Given the description of an element on the screen output the (x, y) to click on. 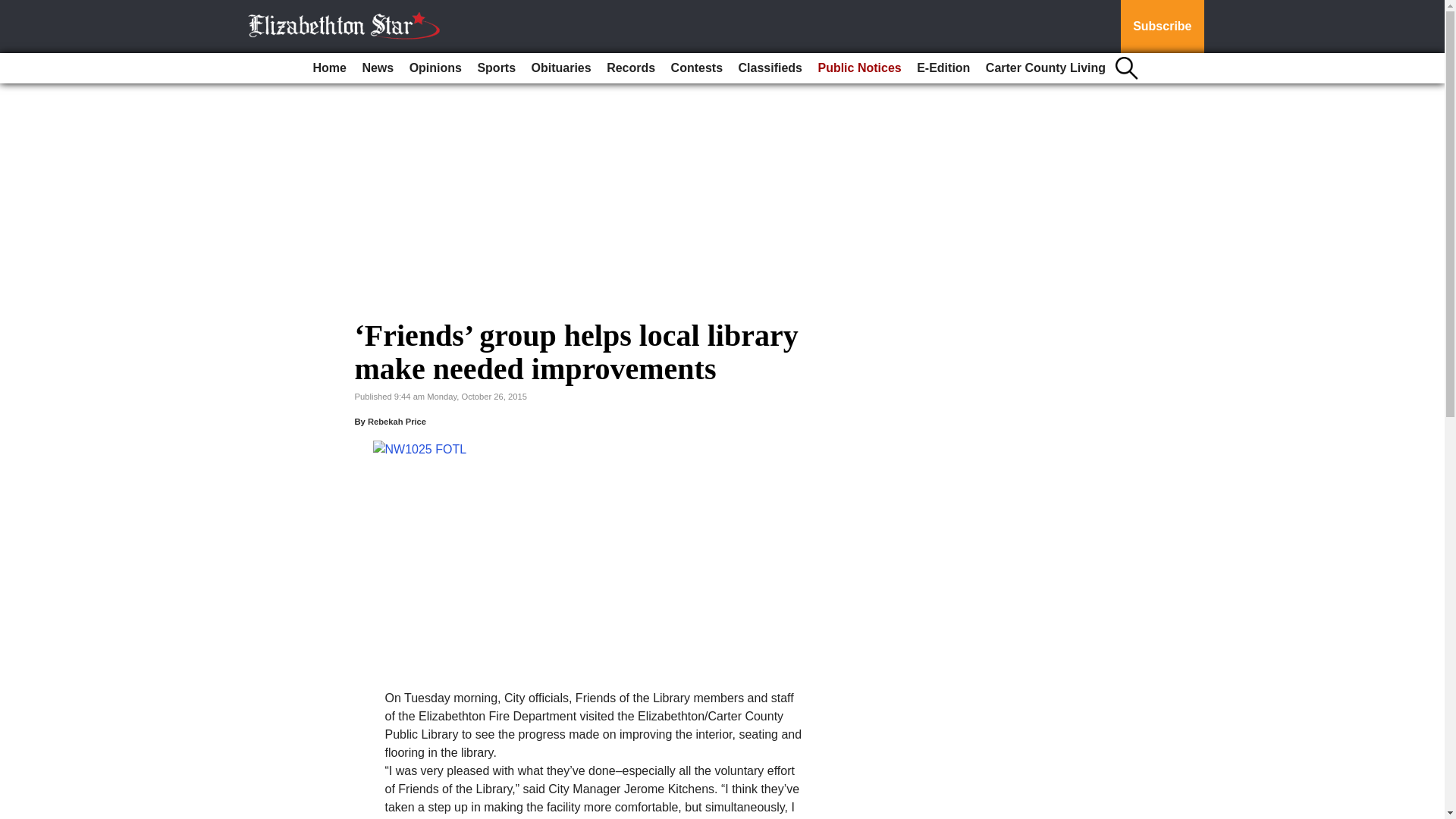
Carter County Living (1045, 68)
Go (13, 9)
Contests (697, 68)
News (376, 68)
Obituaries (560, 68)
Rebekah Price (397, 420)
Classifieds (770, 68)
E-Edition (943, 68)
Opinions (435, 68)
Home (328, 68)
